Given the description of an element on the screen output the (x, y) to click on. 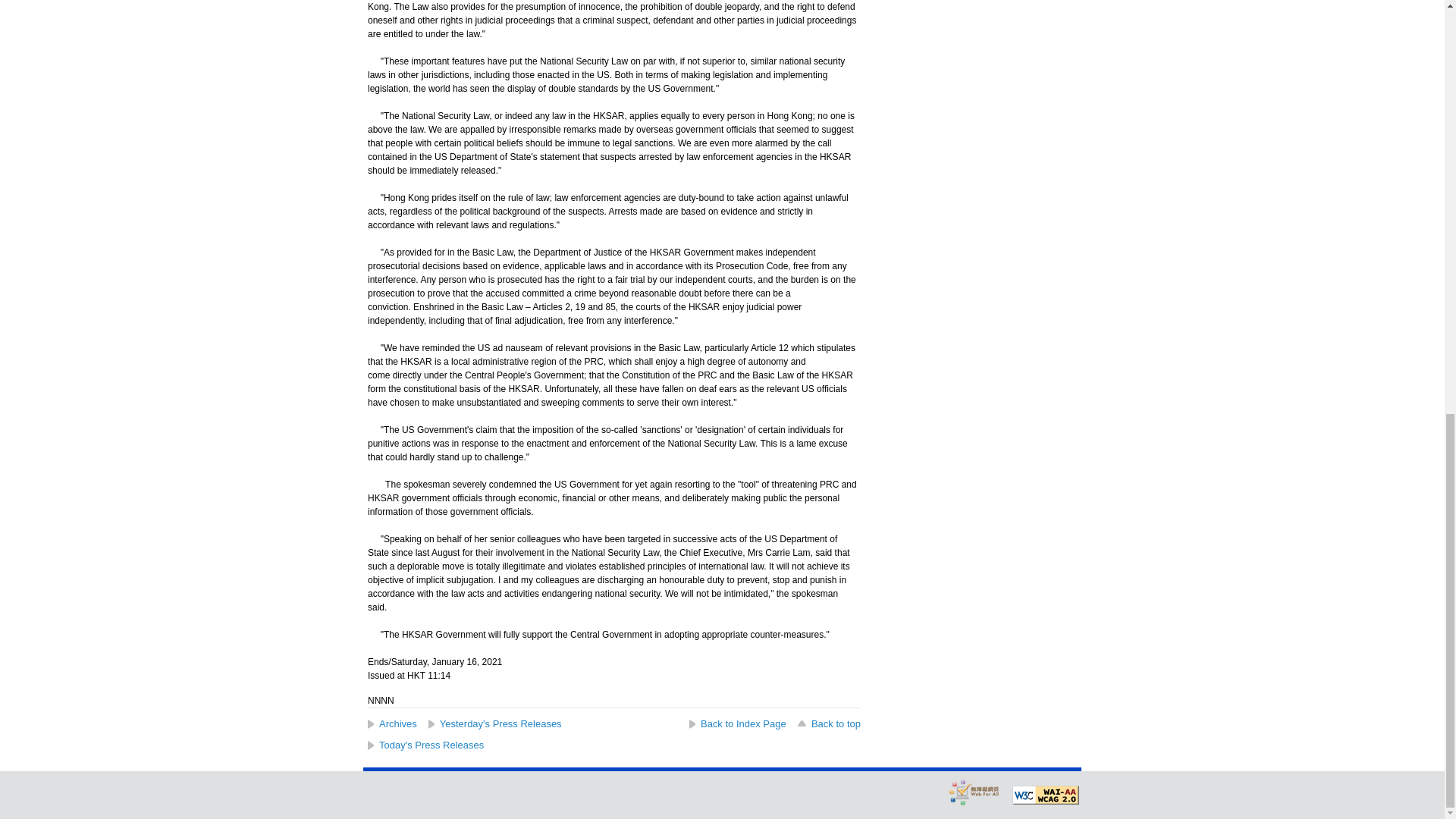
Archives (392, 723)
Today's Press Releases (425, 745)
Back to top (828, 723)
Back to Index Page (737, 723)
Yesterday's Press Releases (495, 723)
Web Accessibility Recognition Scheme (974, 791)
